Given the description of an element on the screen output the (x, y) to click on. 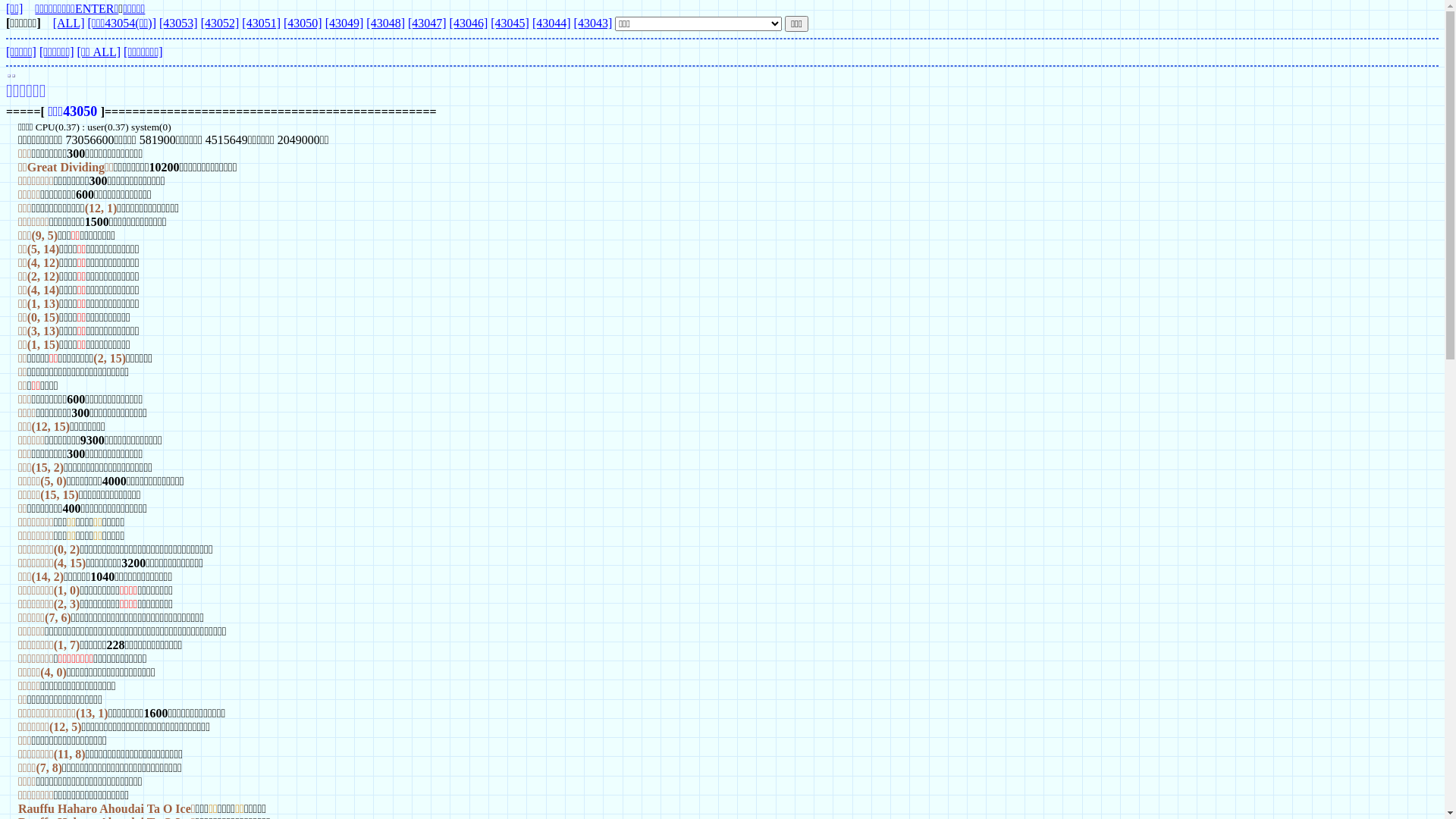
[43052] Element type: text (219, 22)
[ALL] Element type: text (68, 22)
[43043] Element type: text (593, 22)
[43048] Element type: text (385, 22)
[43051] Element type: text (260, 22)
[43053] Element type: text (178, 22)
[43044] Element type: text (551, 22)
[43049] Element type: text (344, 22)
[43046] Element type: text (468, 22)
[43045] Element type: text (509, 22)
[43047] Element type: text (426, 22)
[43050] Element type: text (302, 22)
